Given the description of an element on the screen output the (x, y) to click on. 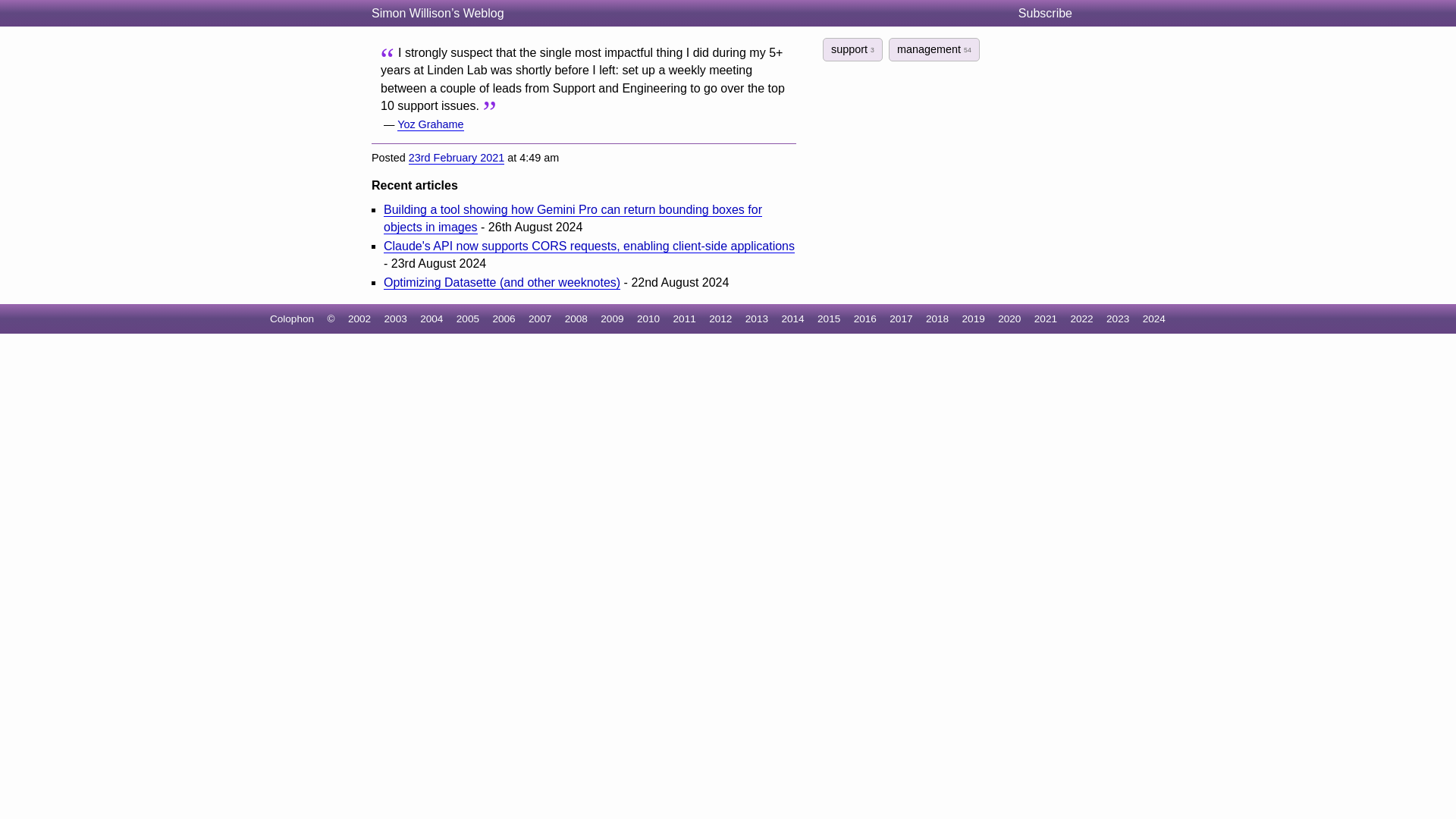
2015 (828, 318)
Yoz Grahame (430, 124)
2023 (1117, 318)
management 54 (933, 49)
2022 (1081, 318)
2014 (791, 318)
2012 (720, 318)
support 3 (852, 49)
Subscribe (1050, 13)
2002 (359, 318)
